Given the description of an element on the screen output the (x, y) to click on. 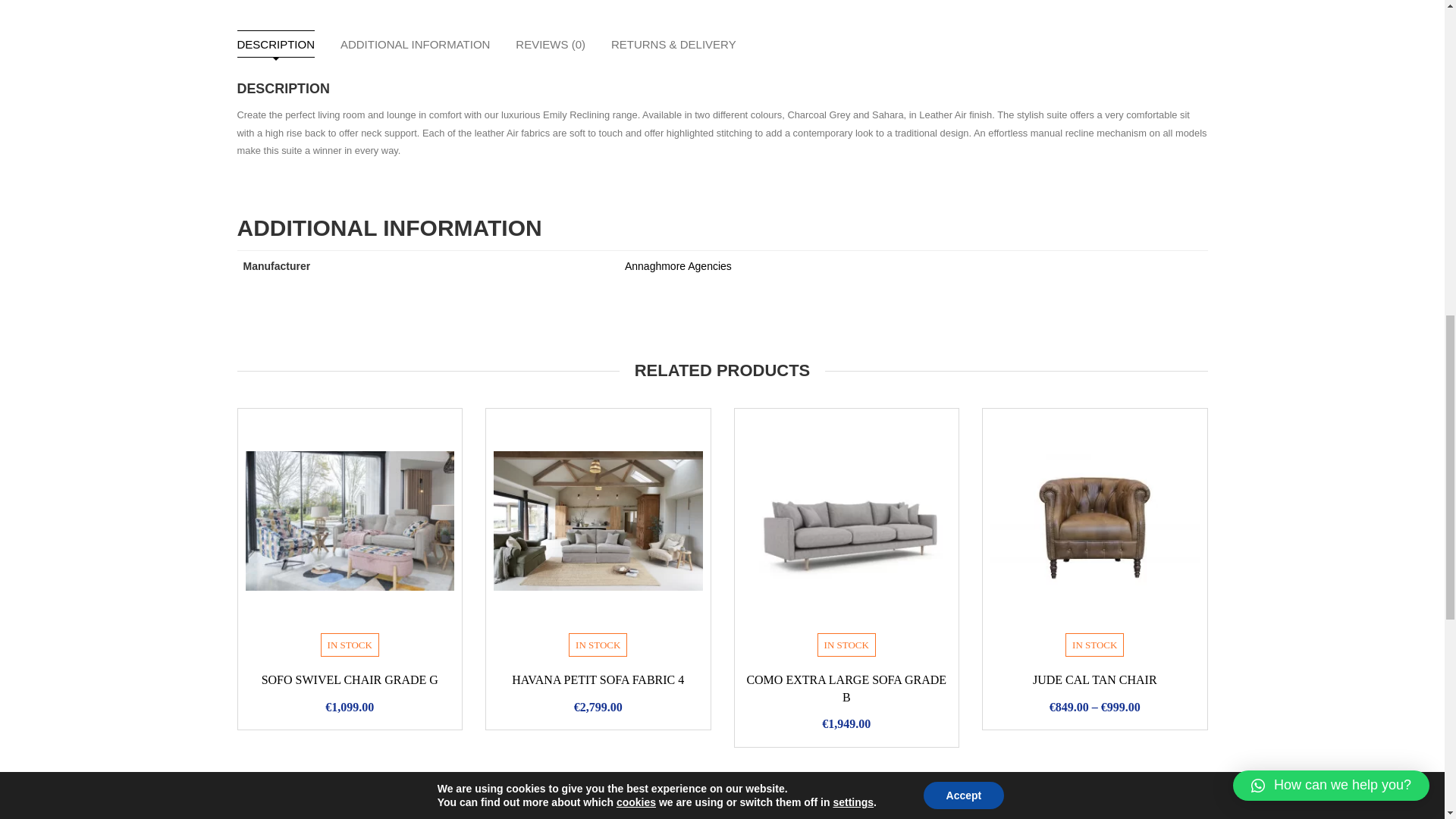
SoFo Swivel Chair Grade G (350, 520)
Jude Cal Tan Chair (1094, 520)
Como Extra Large Sofa Grade B (845, 520)
Havana Petit Sofa Fabric 4 (598, 520)
